Given the description of an element on the screen output the (x, y) to click on. 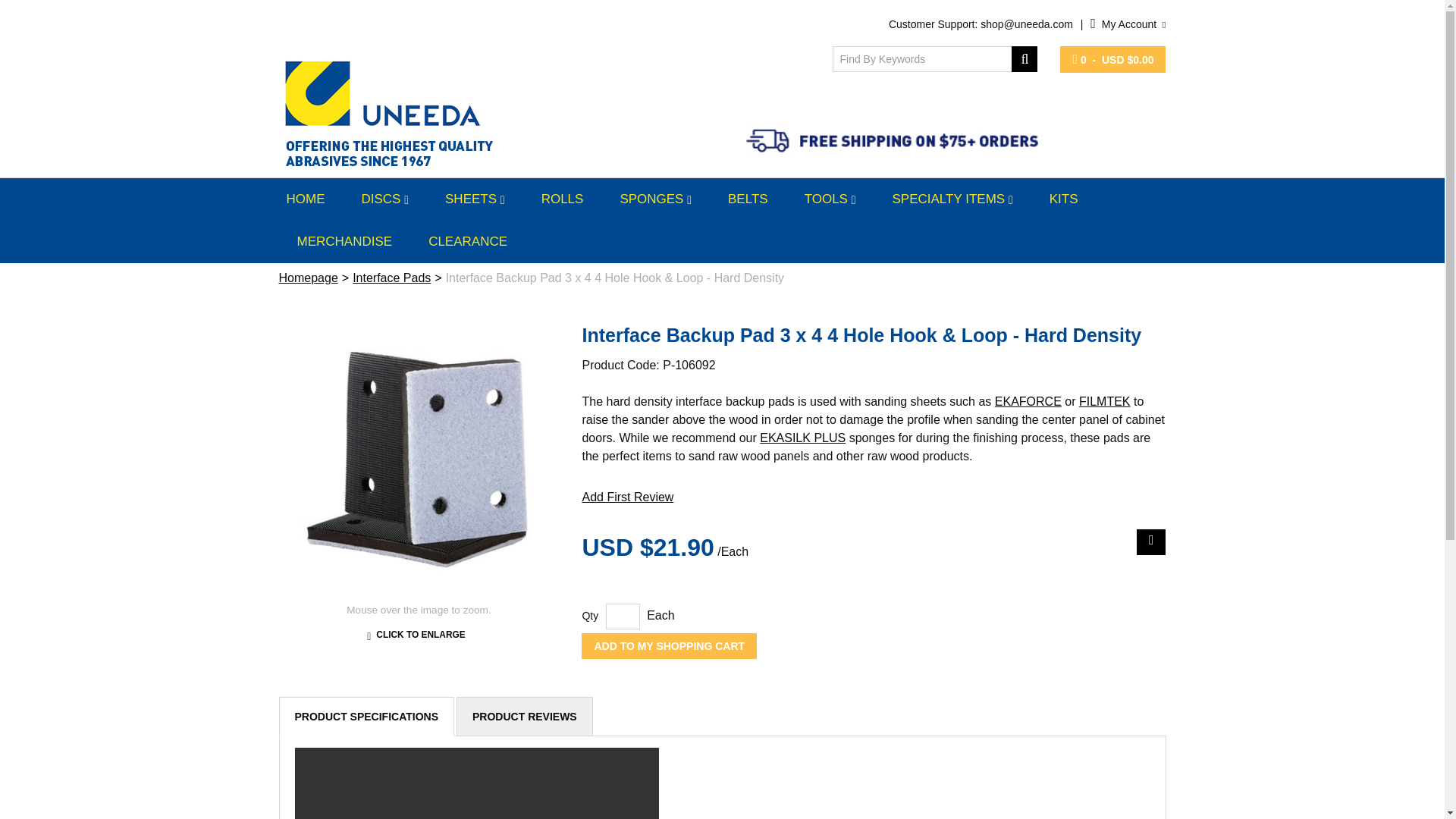
SPECIALTY ITEMS (952, 199)
My Account (1128, 24)
ROLLS (562, 199)
TOOLS (830, 199)
BELTS (748, 199)
HOME (311, 199)
Tell a Friend (1151, 542)
SPONGES (655, 199)
DISCS (384, 199)
SHEETS (474, 199)
